Given the description of an element on the screen output the (x, y) to click on. 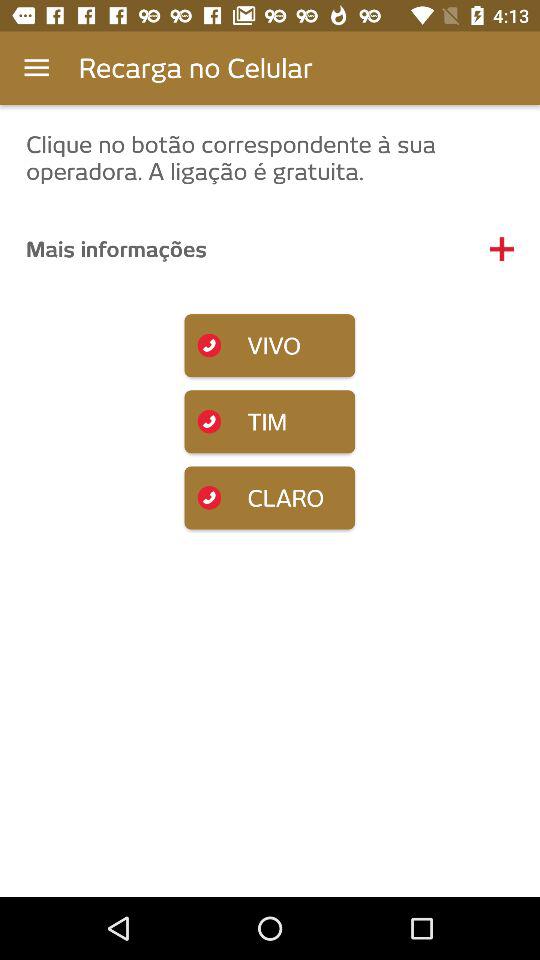
swipe until the tim icon (269, 421)
